Given the description of an element on the screen output the (x, y) to click on. 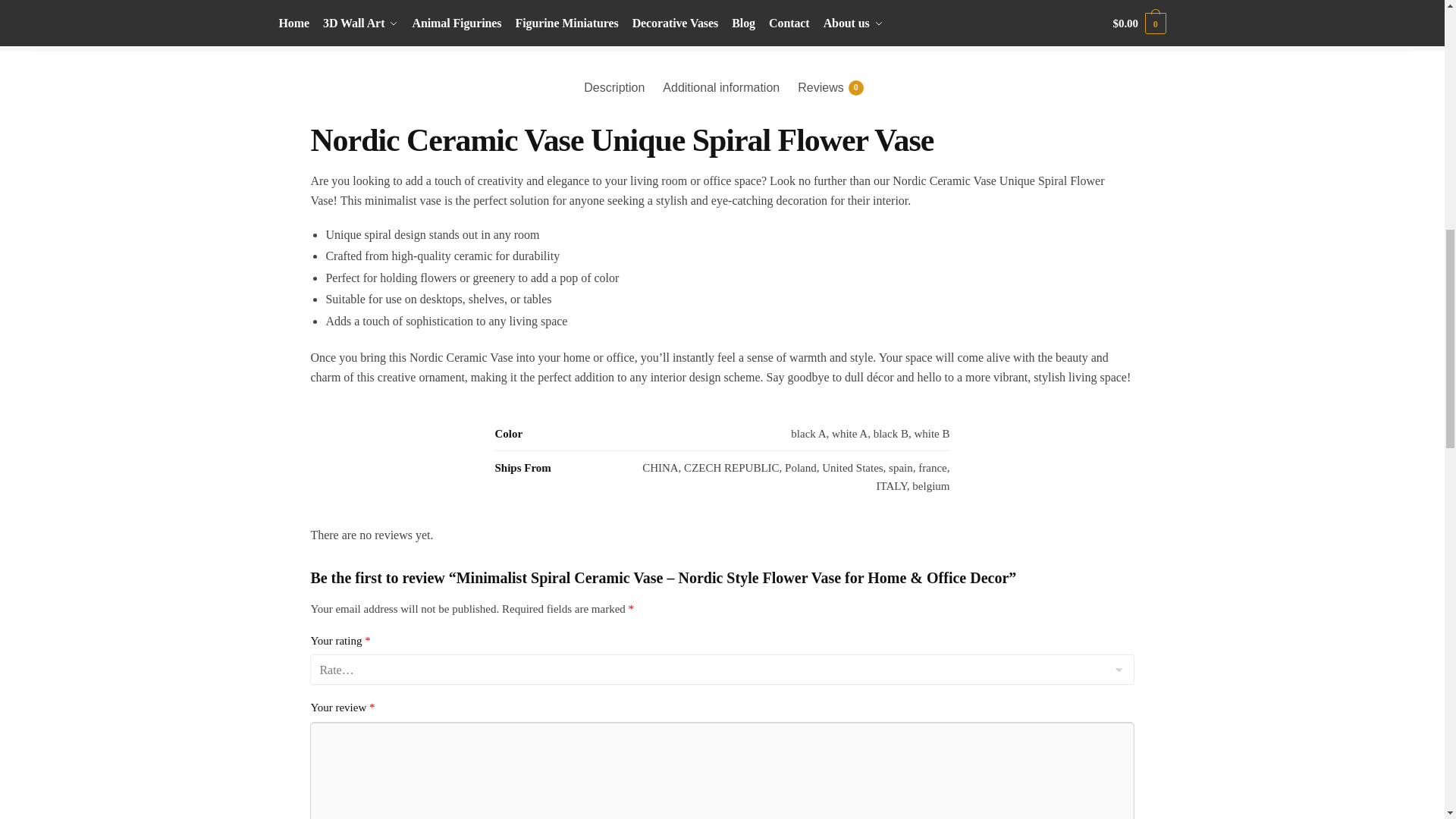
S37b15aff8b40403f8824e252d2caa8c8I-3.webp (619, 13)
Saafe05aedea14c1ca11e617a4351d323F-3.webp (494, 13)
S0ed91fd32bf54cacb4e5d804aeeb6eb0N-3.webp (369, 13)
